Given the description of an element on the screen output the (x, y) to click on. 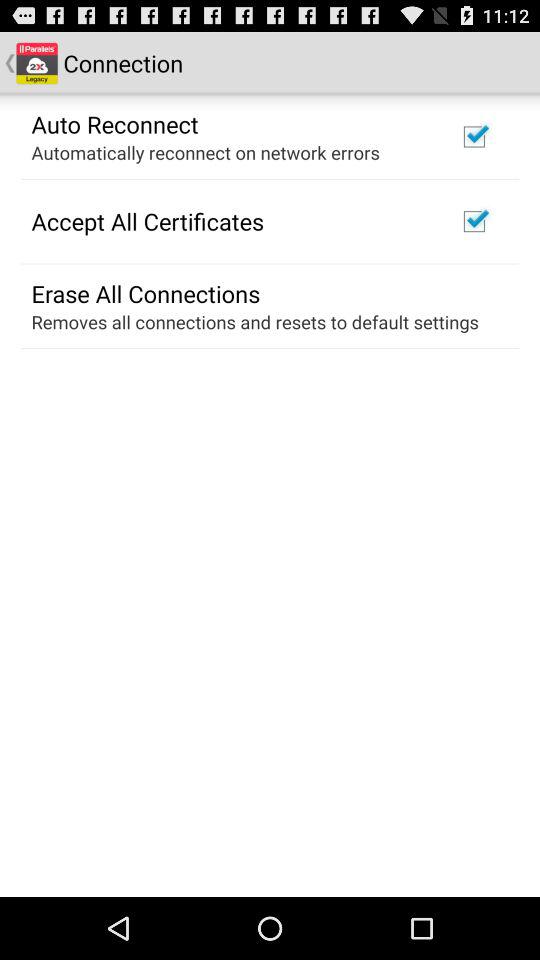
open accept all certificates item (147, 221)
